Given the description of an element on the screen output the (x, y) to click on. 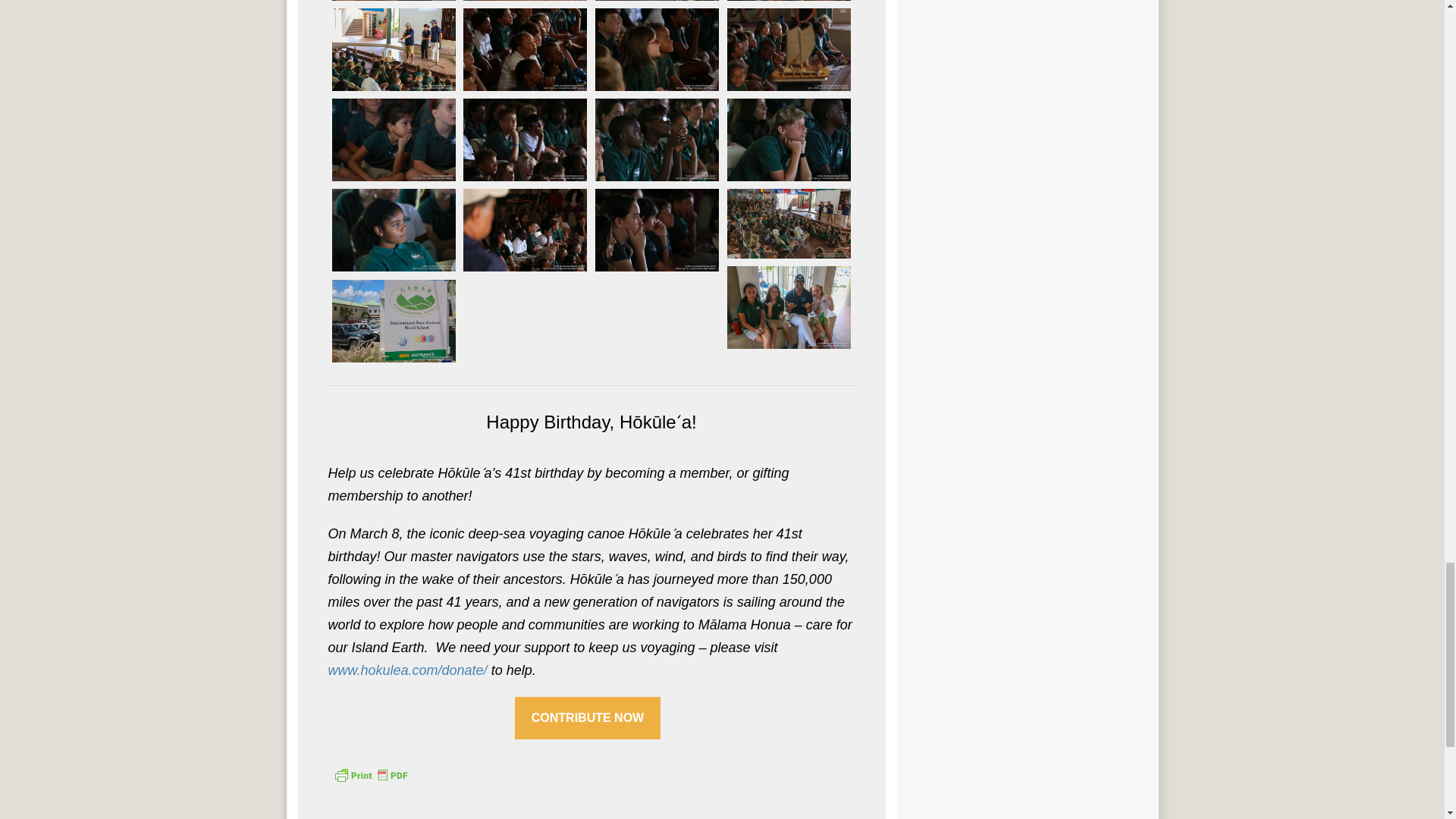
The students were very engaged with the crew presentation (656, 49)
The students were very engaged with the crew presentation (524, 49)
